Given the description of an element on the screen output the (x, y) to click on. 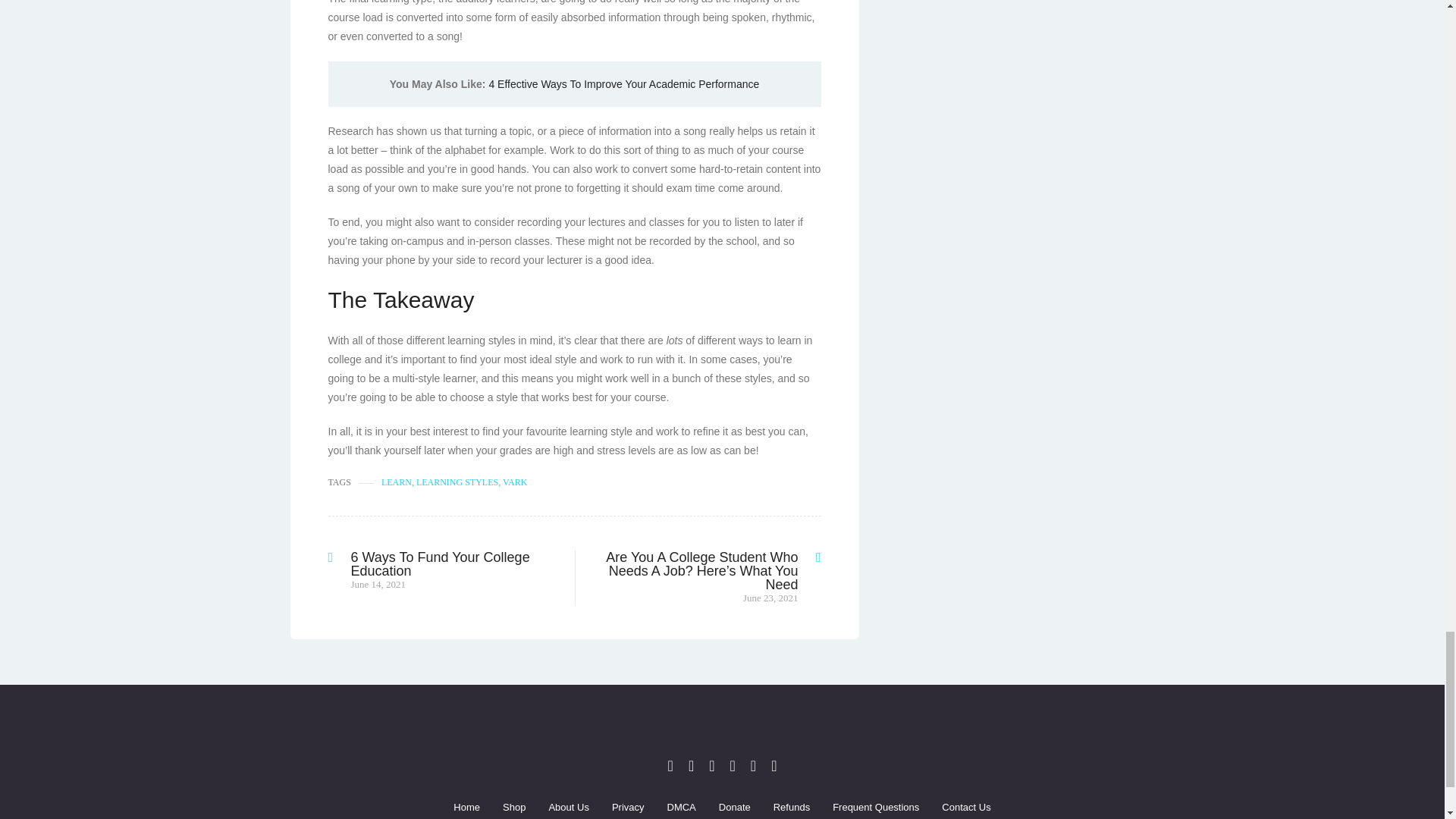
LEARN (396, 481)
4 Effective Ways To Improve Your Academic Performance (622, 83)
VARK (514, 481)
Four Effective Ways To Improve Your Academic Performance (622, 83)
LEARNING STYLES (456, 481)
